Given the description of an element on the screen output the (x, y) to click on. 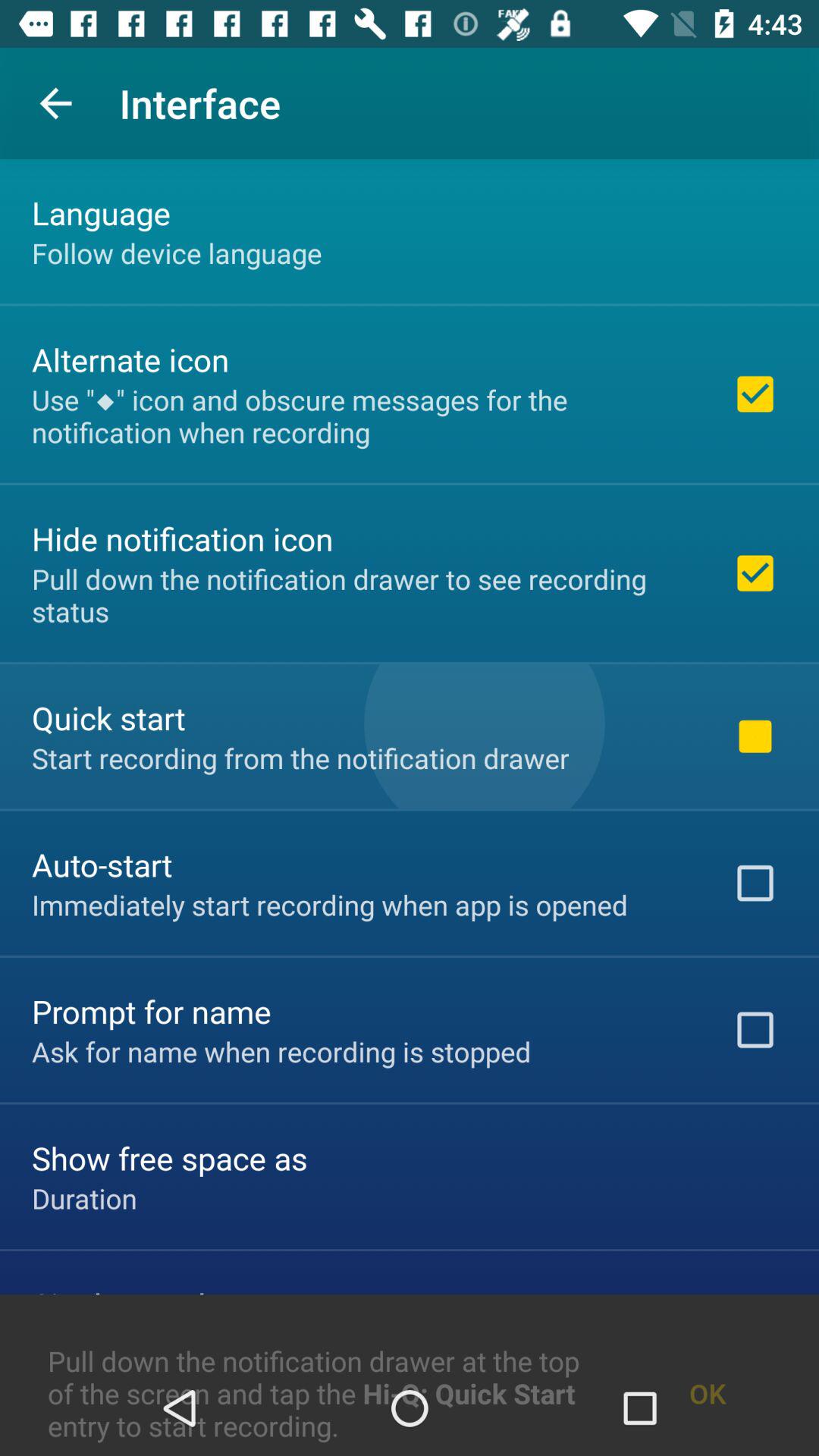
choose ok (707, 1356)
